Given the description of an element on the screen output the (x, y) to click on. 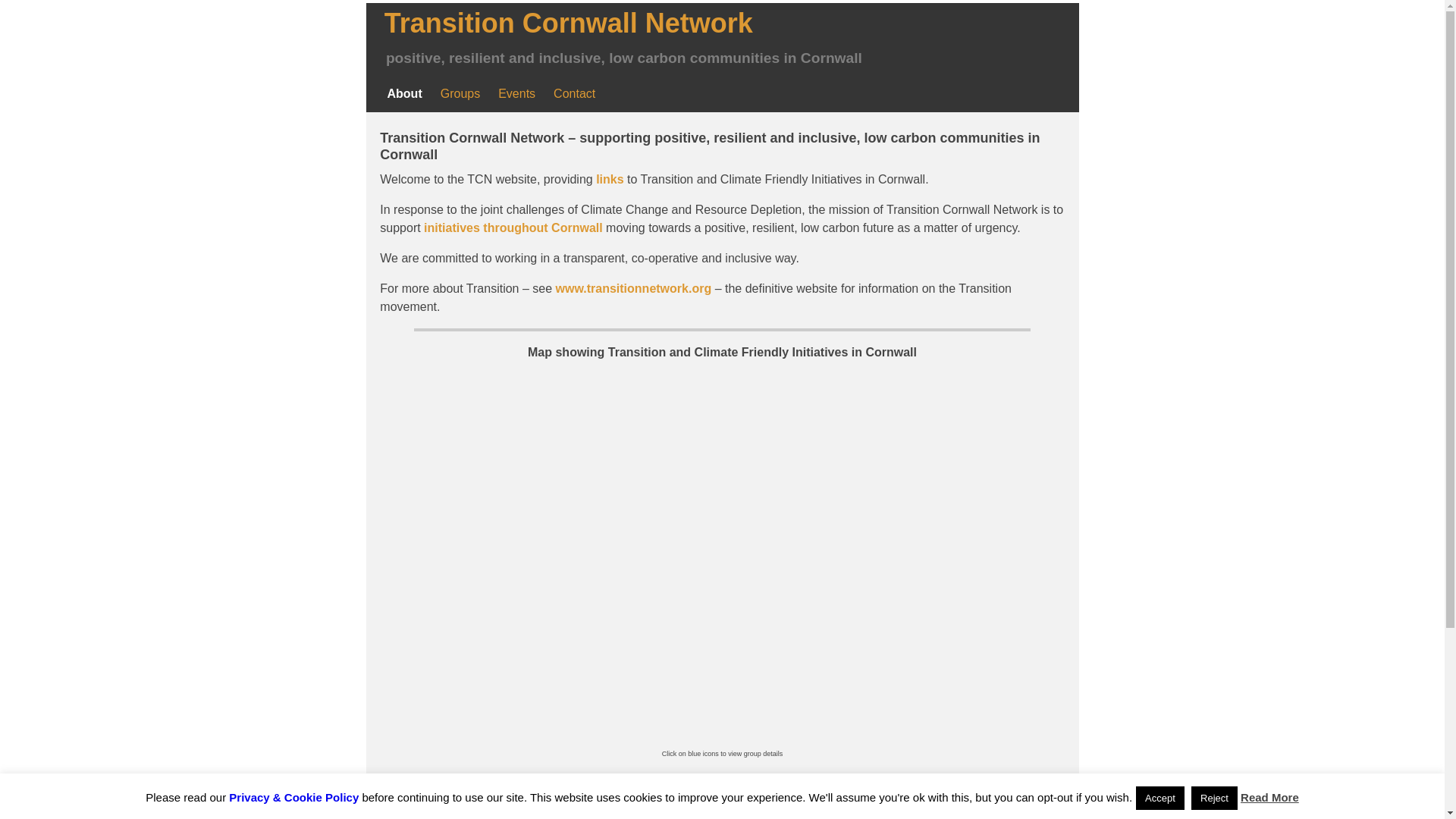
initiatives throughout Cornwall (512, 227)
Reject (1214, 797)
Events (516, 94)
About (403, 94)
links (609, 178)
Groups (459, 94)
Transition Cornwall Network (568, 22)
Contact (574, 94)
Accept (1160, 797)
www.transitionnetwork.org (633, 287)
